Given the description of an element on the screen output the (x, y) to click on. 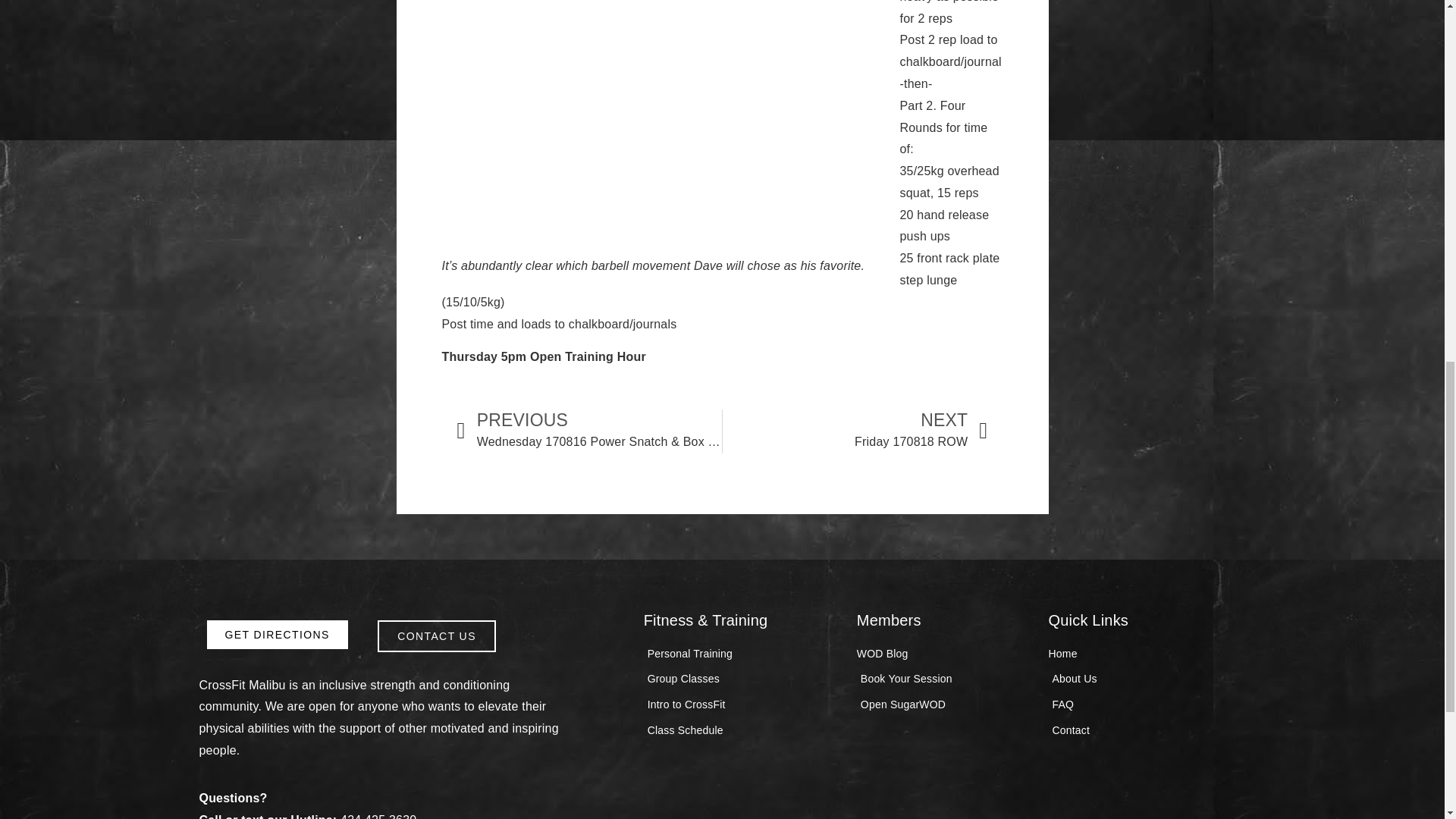
FAQ (1146, 704)
Open SugarWOD (945, 704)
GET DIRECTIONS (276, 634)
WOD Blog (945, 653)
About Us (1146, 679)
Intro to CrossFit (742, 704)
Group Classes (742, 679)
Class Schedule (742, 730)
Personal Training (742, 653)
